Given the description of an element on the screen output the (x, y) to click on. 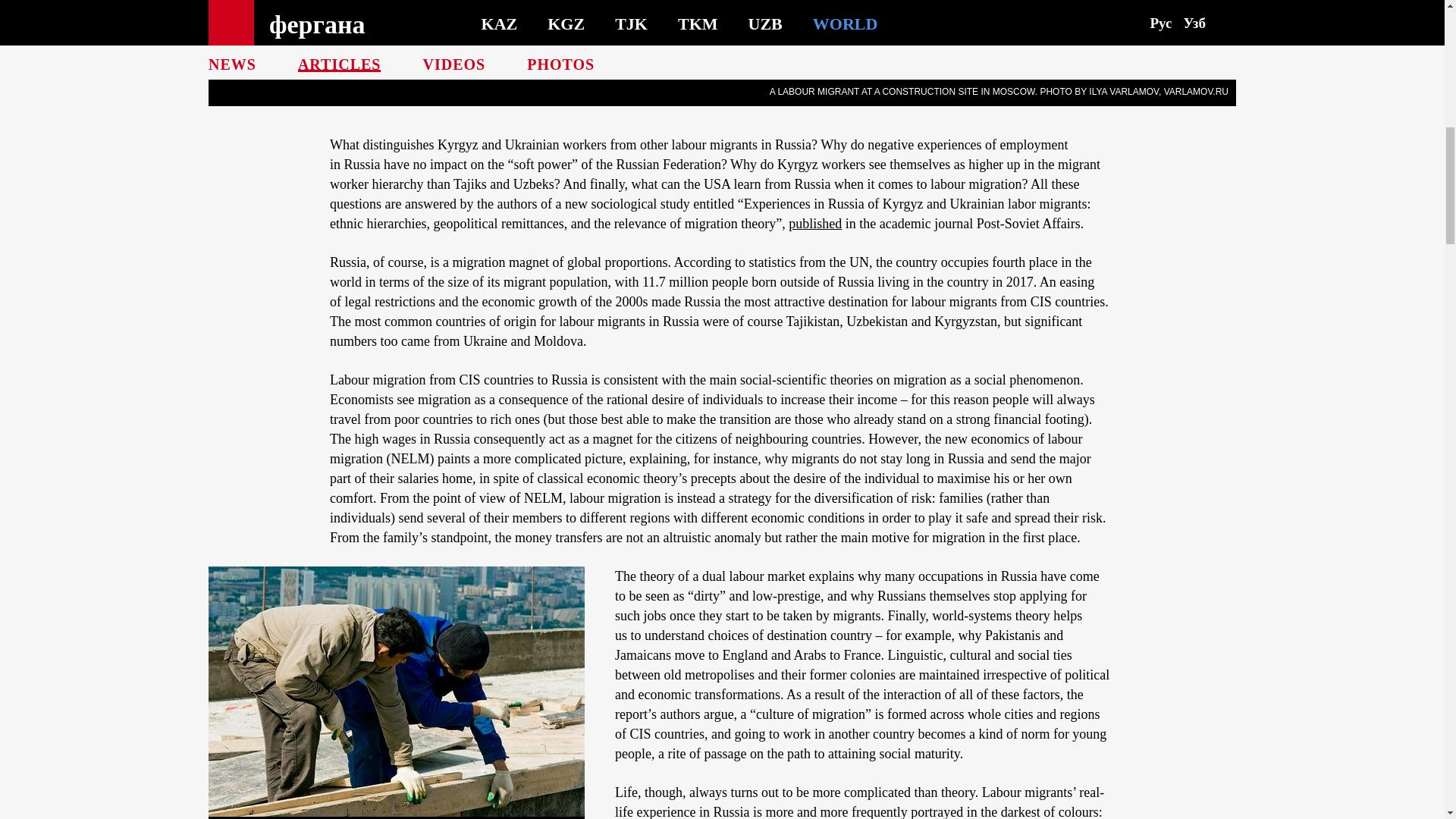
published (815, 223)
